Given the description of an element on the screen output the (x, y) to click on. 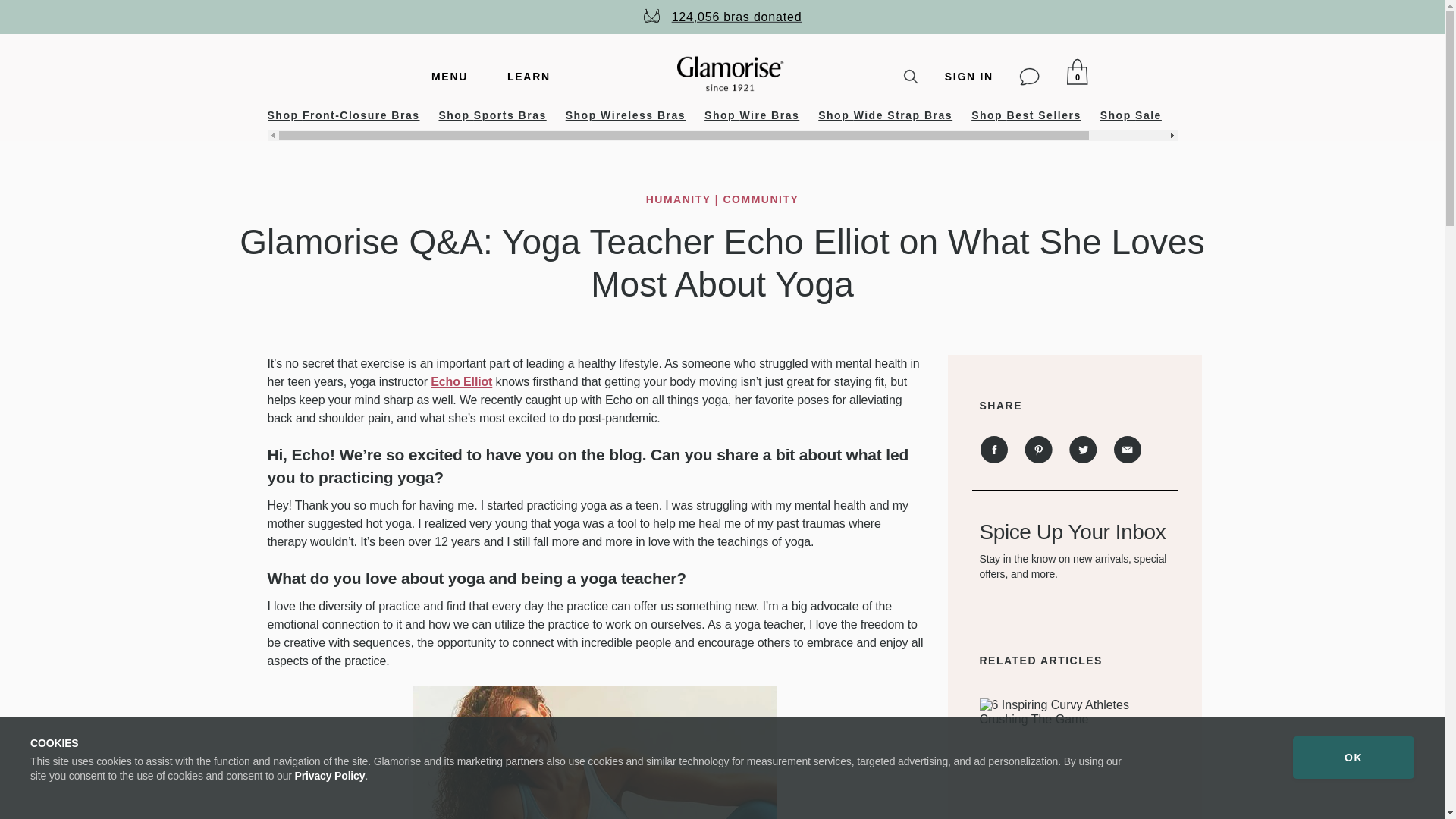
OK (1352, 757)
124,056 bras donated (722, 16)
Echo Elliot (461, 381)
Privacy Policy (330, 775)
